Given the description of an element on the screen output the (x, y) to click on. 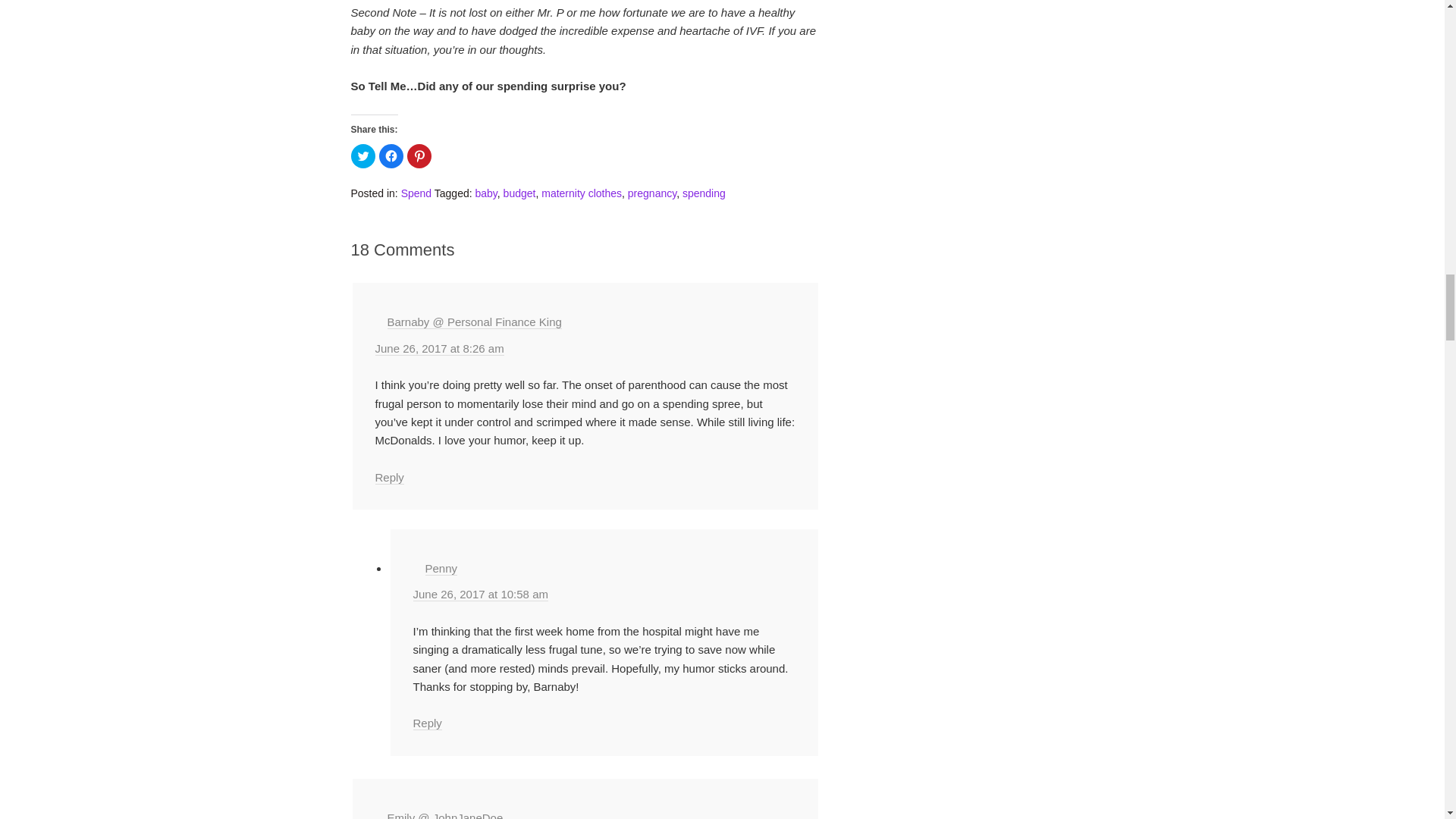
Click to share on Facebook (390, 156)
June 26, 2017 at 8:26 am (438, 348)
Penny (441, 568)
June 26, 2017 at 10:58 am (479, 594)
Click to share on Pinterest (418, 156)
maternity clothes (581, 193)
Monday, June 26, 2017, 8:26 am (438, 348)
Reply (388, 477)
pregnancy (652, 193)
Reply (426, 723)
